Given the description of an element on the screen output the (x, y) to click on. 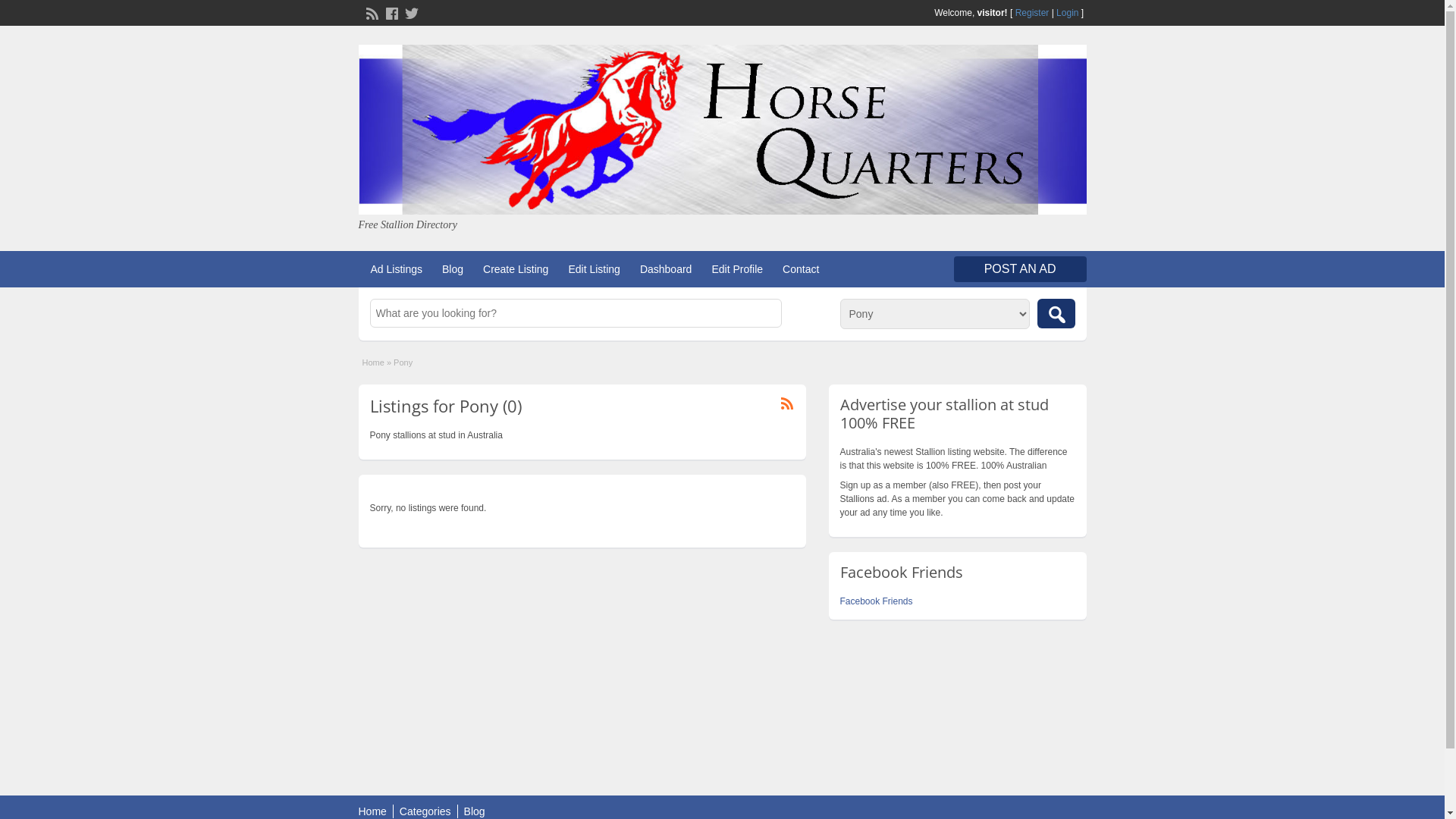
Edit Listing Element type: text (593, 268)
search Element type: text (1056, 313)
Contact Element type: text (800, 268)
POST AN AD Element type: text (1019, 269)
Facebook Friends Element type: text (876, 601)
Blog Element type: text (474, 811)
RSS Feed Element type: hover (370, 12)
Home Element type: text (371, 811)
Facebook Element type: hover (389, 12)
Categories Element type: text (425, 811)
Blog Element type: text (452, 268)
Create Listing Element type: text (515, 268)
Login Element type: text (1067, 12)
Search Ads Element type: hover (1056, 313)
Home Element type: text (373, 362)
Edit Profile Element type: text (736, 268)
Register Element type: text (1032, 12)
Twitter Element type: hover (409, 12)
Ad Listings Element type: text (395, 268)
Dashboard Element type: text (665, 268)
